Given the description of an element on the screen output the (x, y) to click on. 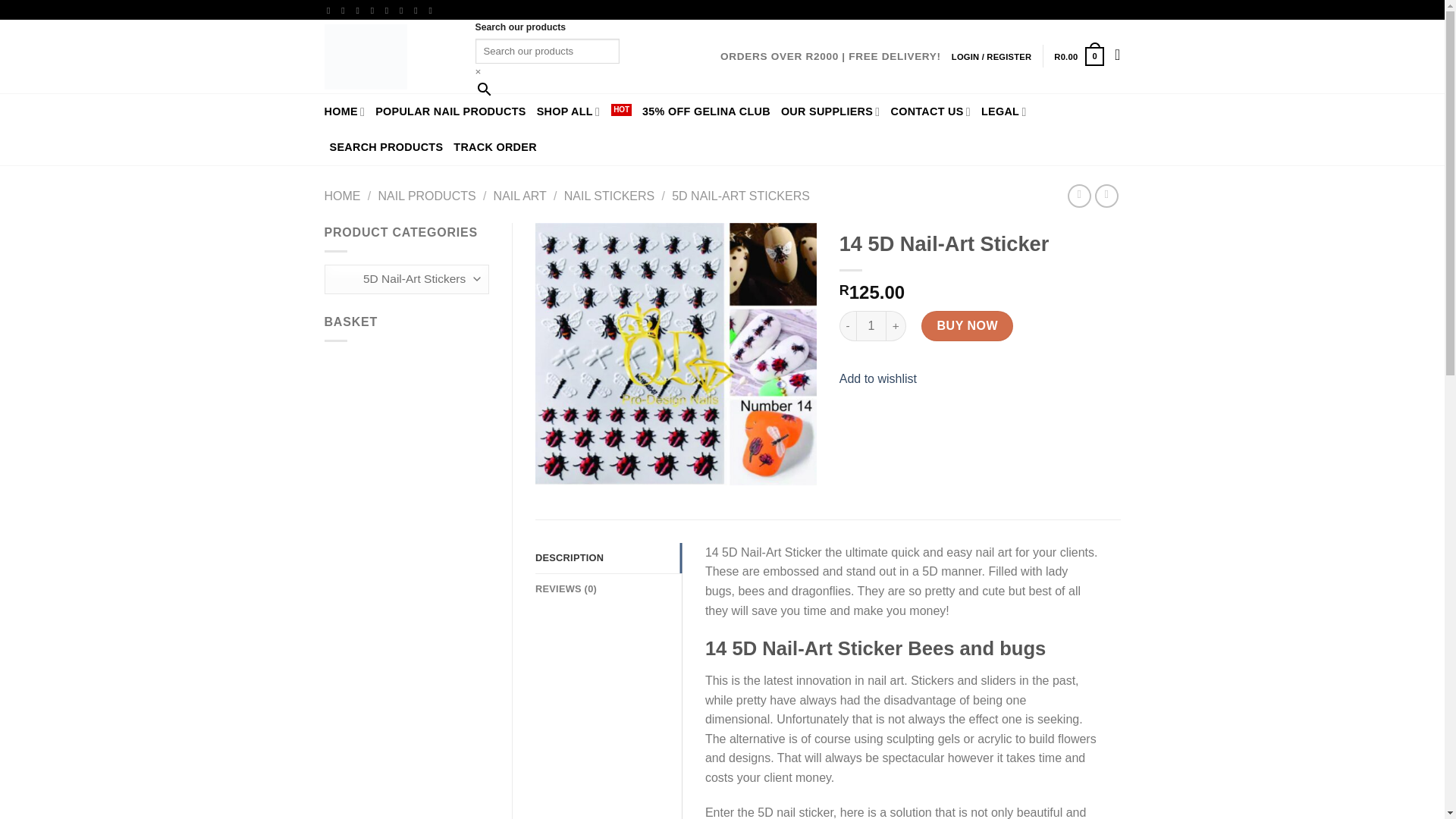
HOME (344, 111)
Home (344, 111)
Basket (1078, 56)
POPULAR NAIL PRODUCTS (450, 111)
1 (1078, 56)
Nail Products South Africa - QD Pro-Design Nails (871, 326)
Shop all our products (388, 56)
SHOP ALL (584, 111)
Our Suppliers (584, 111)
